Given the description of an element on the screen output the (x, y) to click on. 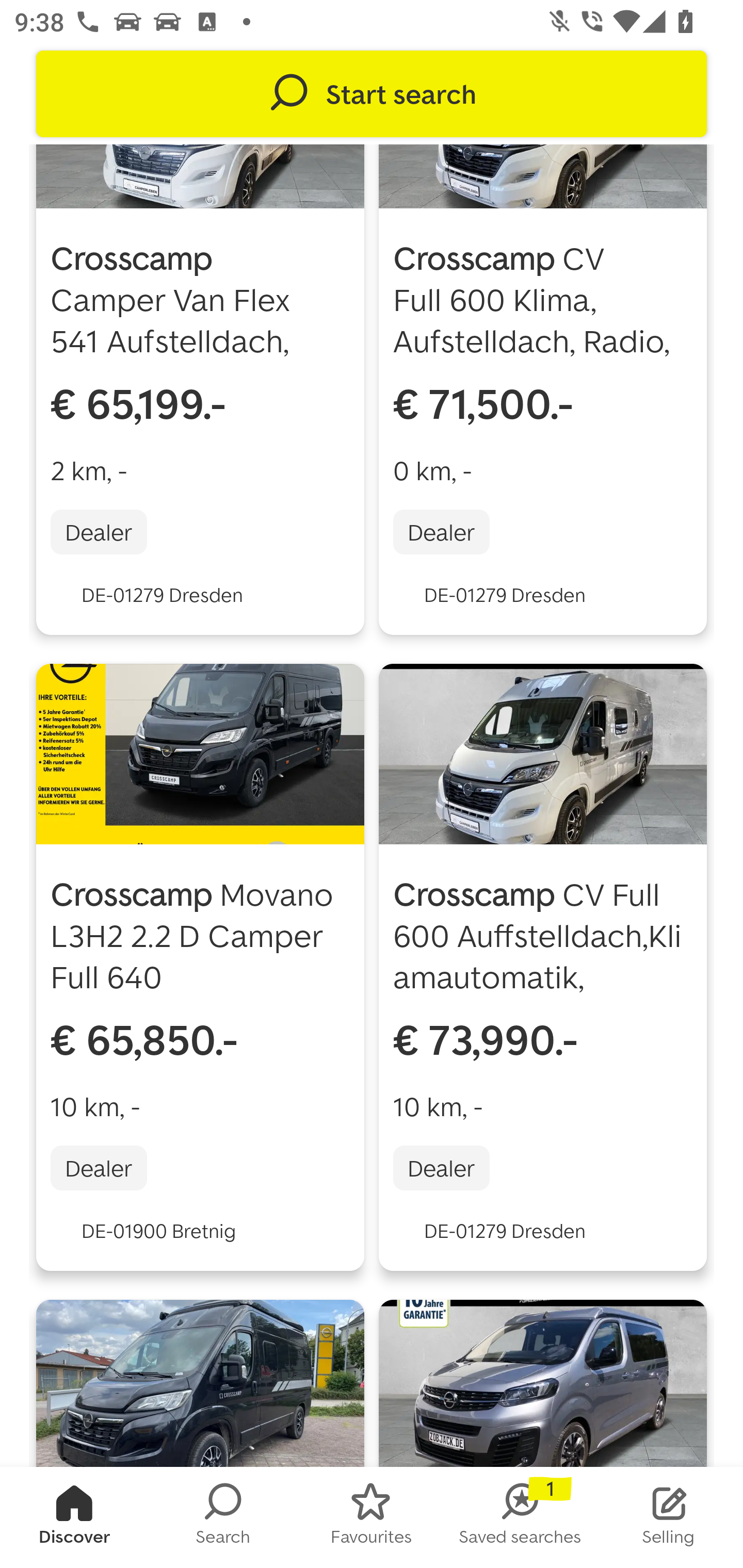
Start search (371, 93)
HOMESCREEN Discover (74, 1517)
SEARCH Search (222, 1517)
FAVORITES Favourites (371, 1517)
SAVED_SEARCHES Saved searches 1 (519, 1517)
STOCK_LIST Selling (668, 1517)
